Given the description of an element on the screen output the (x, y) to click on. 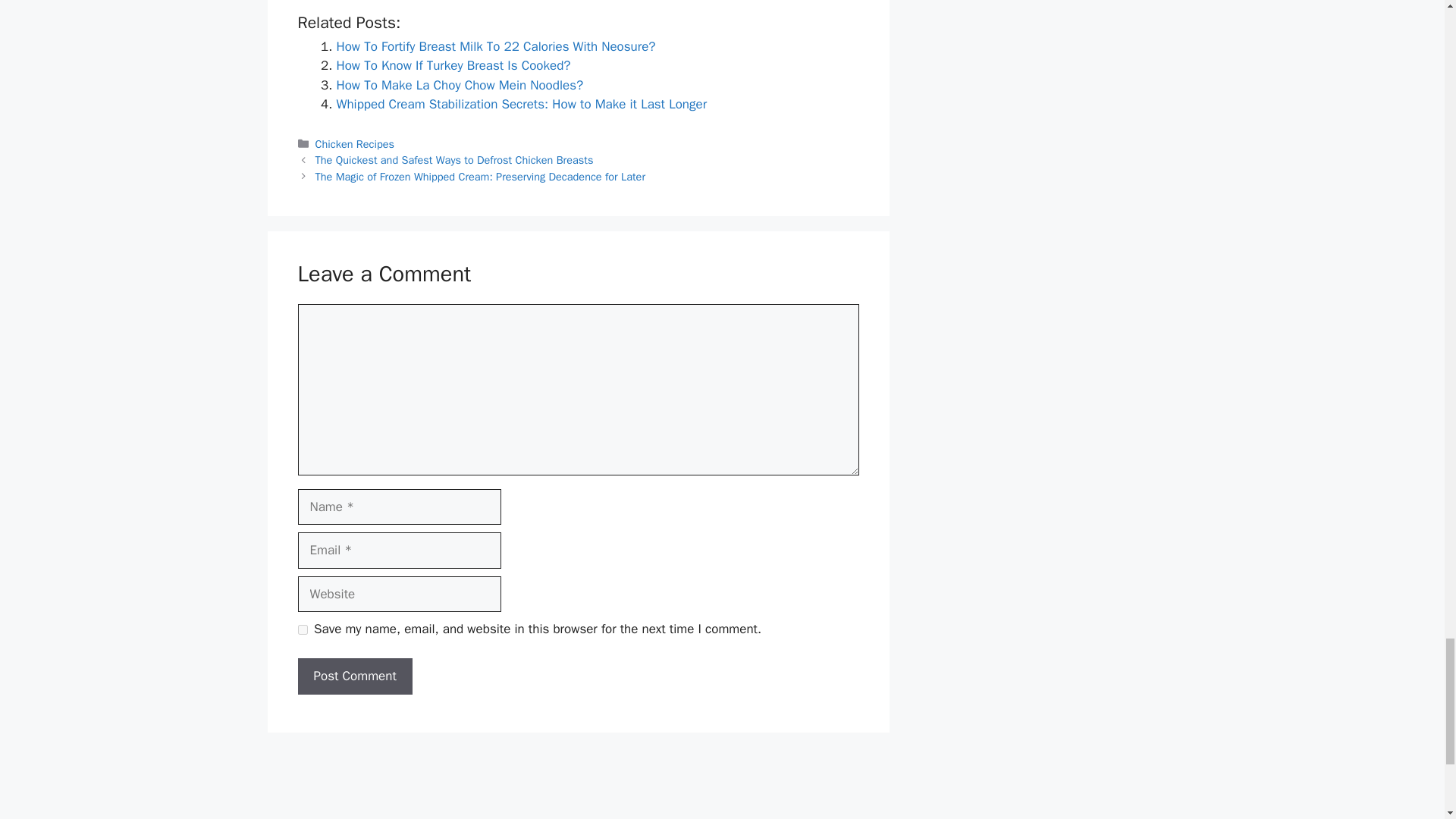
How To Make La Choy Chow Mein Noodles? (459, 84)
How To Make La Choy Chow Mein Noodles? (459, 84)
How To Fortify Breast Milk To 22 Calories With Neosure? (496, 46)
The Quickest and Safest Ways to Defrost Chicken Breasts (454, 160)
How To Know If Turkey Breast Is Cooked? (453, 65)
yes (302, 629)
How To Know If Turkey Breast Is Cooked? (453, 65)
Post Comment (354, 676)
How To Fortify Breast Milk To 22 Calories With Neosure? (496, 46)
Post Comment (354, 676)
Chicken Recipes (354, 143)
